Given the description of an element on the screen output the (x, y) to click on. 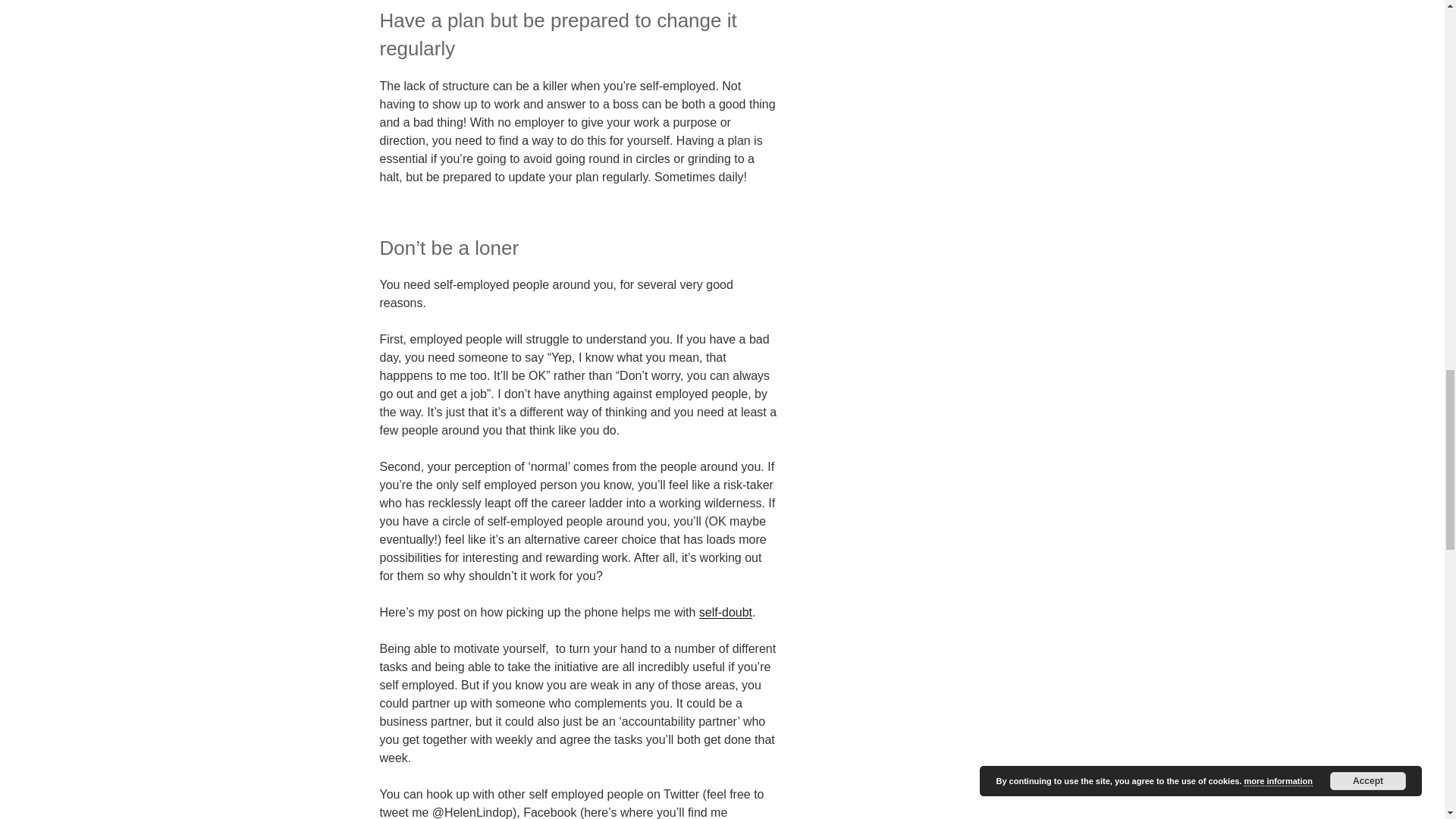
self-doubt (725, 612)
